Given the description of an element on the screen output the (x, y) to click on. 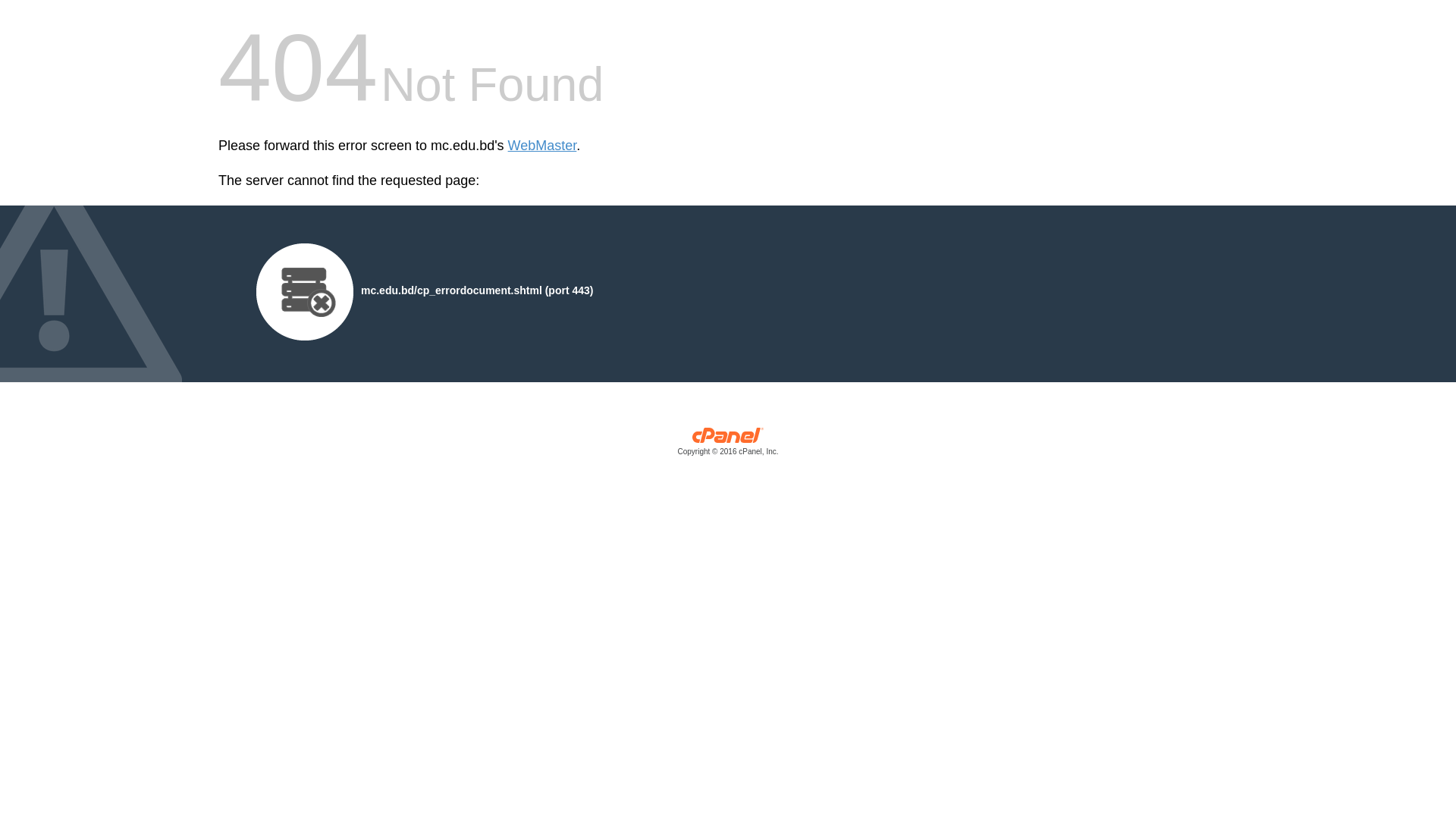
WebMaster Element type: text (542, 145)
